Given the description of an element on the screen output the (x, y) to click on. 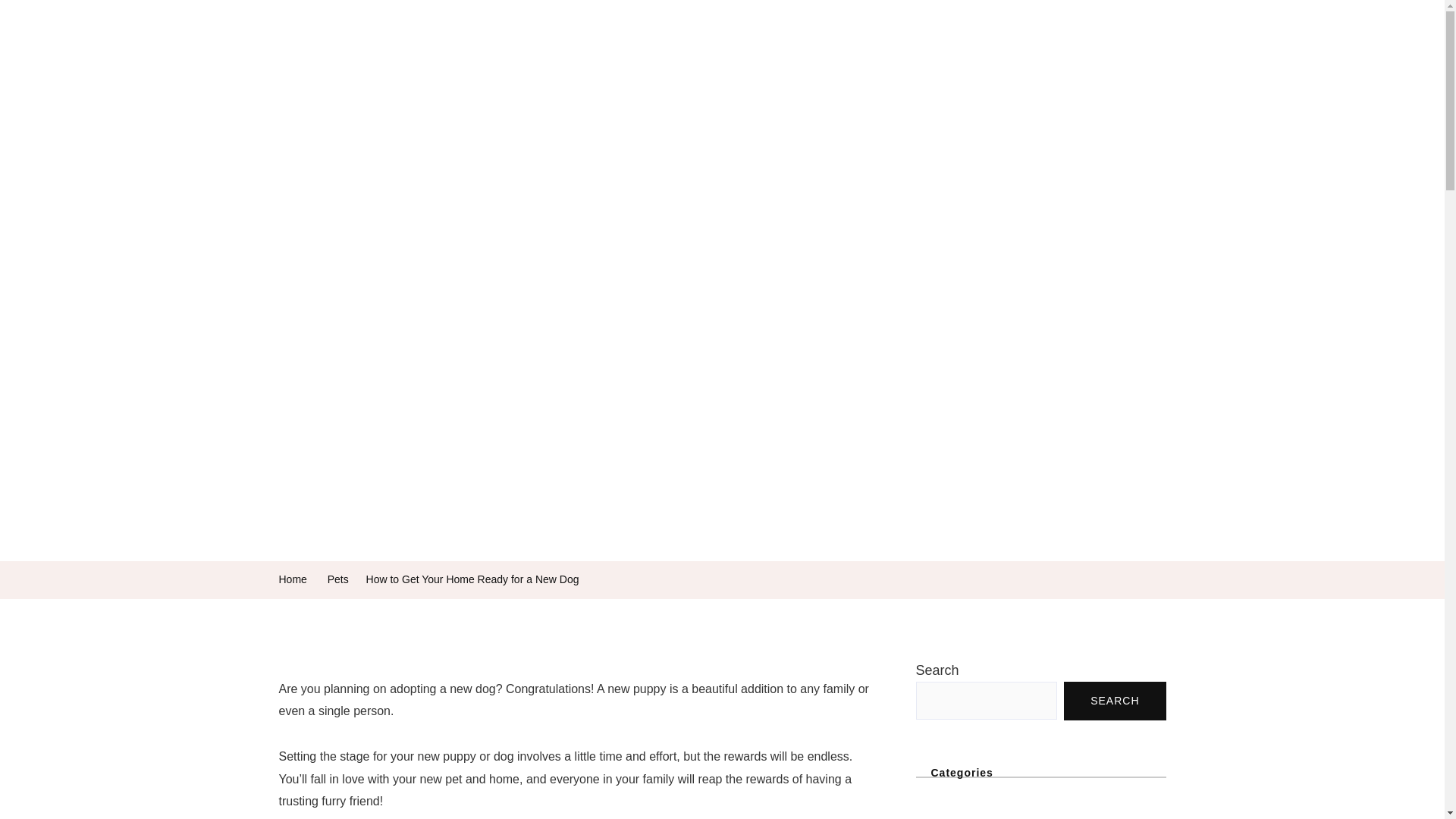
Search (39, 48)
Home (460, 49)
Pets (683, 49)
Wellness (532, 49)
Pets (338, 579)
Contact Me (1013, 49)
Lifestyle Design by Sully (526, 33)
Lifestyle (929, 49)
Finance (613, 49)
Travel (859, 49)
